Given the description of an element on the screen output the (x, y) to click on. 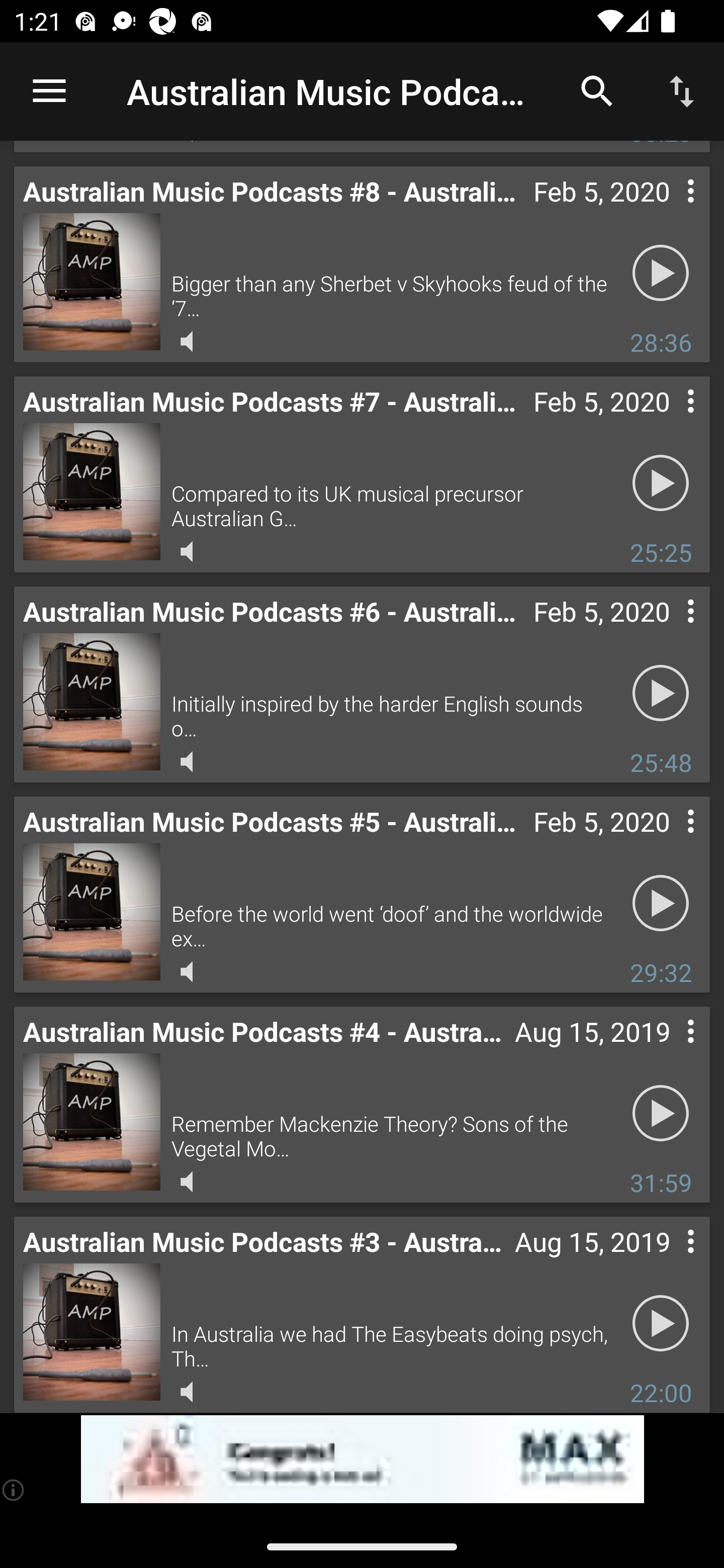
Open navigation sidebar (49, 91)
Search (597, 90)
Sort (681, 90)
Contextual menu (668, 210)
Play (660, 272)
Contextual menu (668, 420)
Play (660, 482)
Contextual menu (668, 630)
Play (660, 692)
Contextual menu (668, 840)
Play (660, 902)
Contextual menu (668, 1050)
Play (660, 1112)
Contextual menu (668, 1261)
Play (660, 1322)
app-monetization (362, 1459)
(i) (14, 1489)
